Given the description of an element on the screen output the (x, y) to click on. 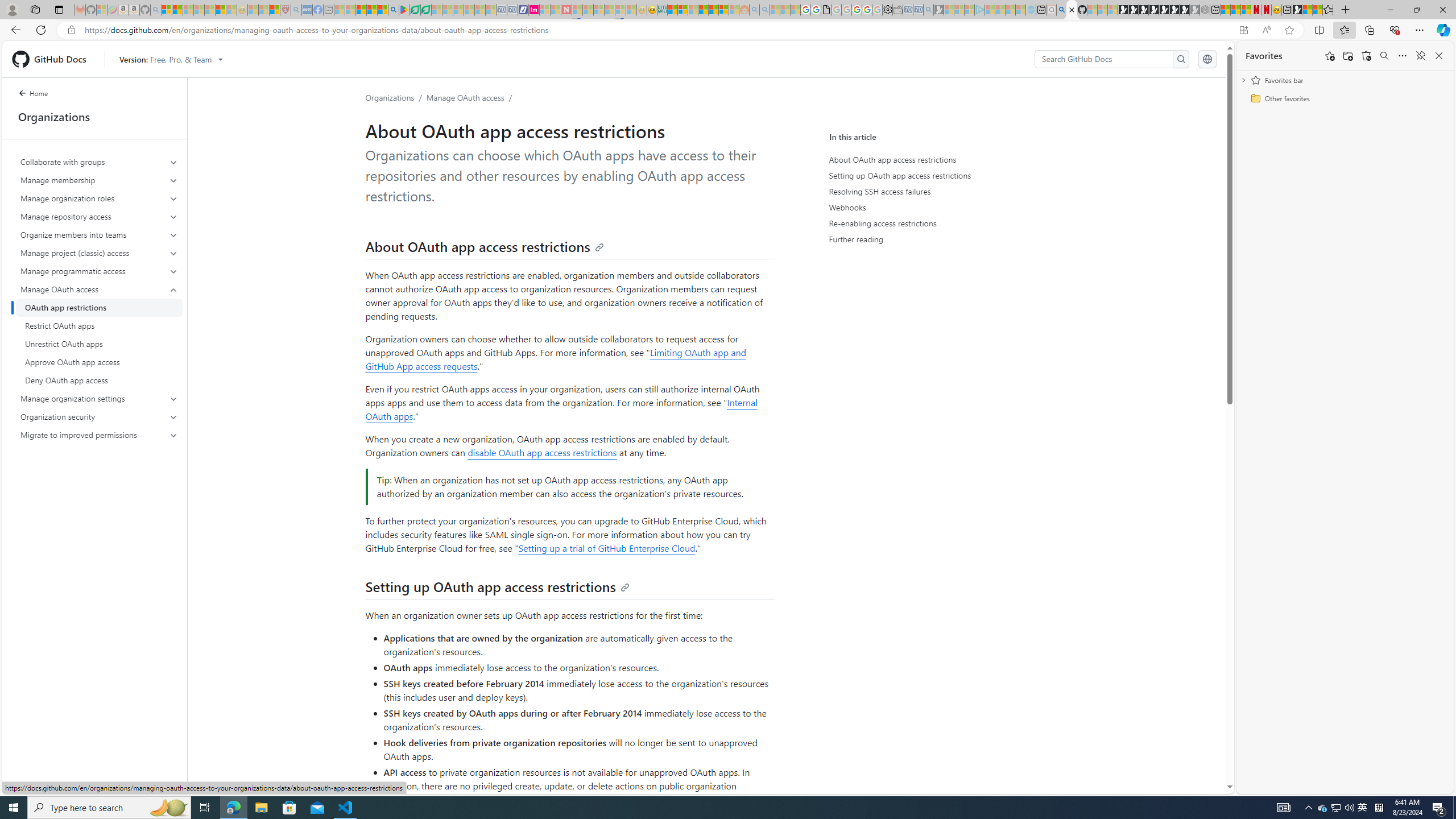
Manage programmatic access (99, 271)
Collaborate with groups (99, 162)
Unpin favorites (1420, 55)
Approve OAuth app access (99, 361)
Pets - MSN (371, 9)
Migrate to improved permissions (99, 434)
